Given the description of an element on the screen output the (x, y) to click on. 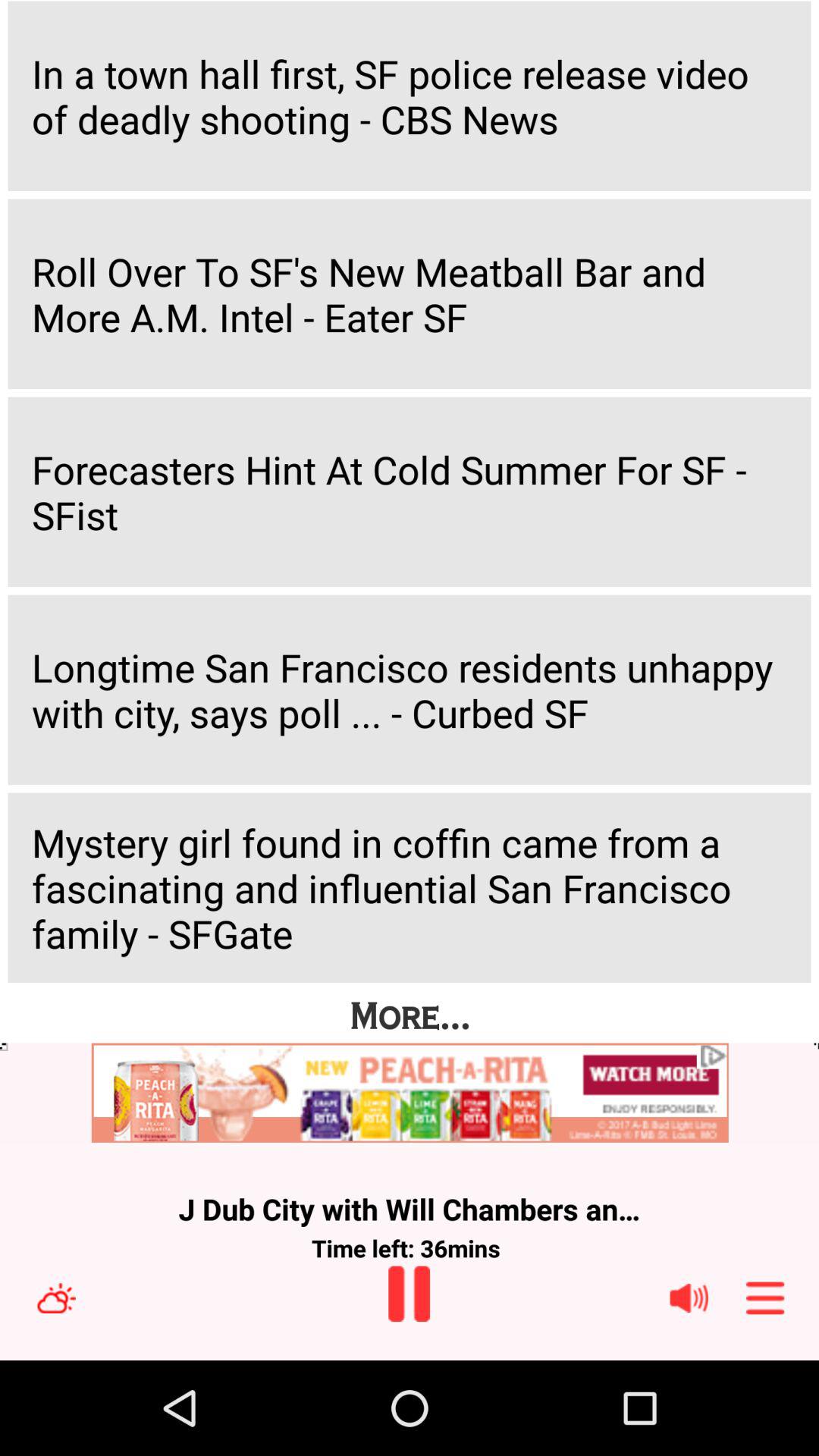
mute app (688, 1298)
